Given the description of an element on the screen output the (x, y) to click on. 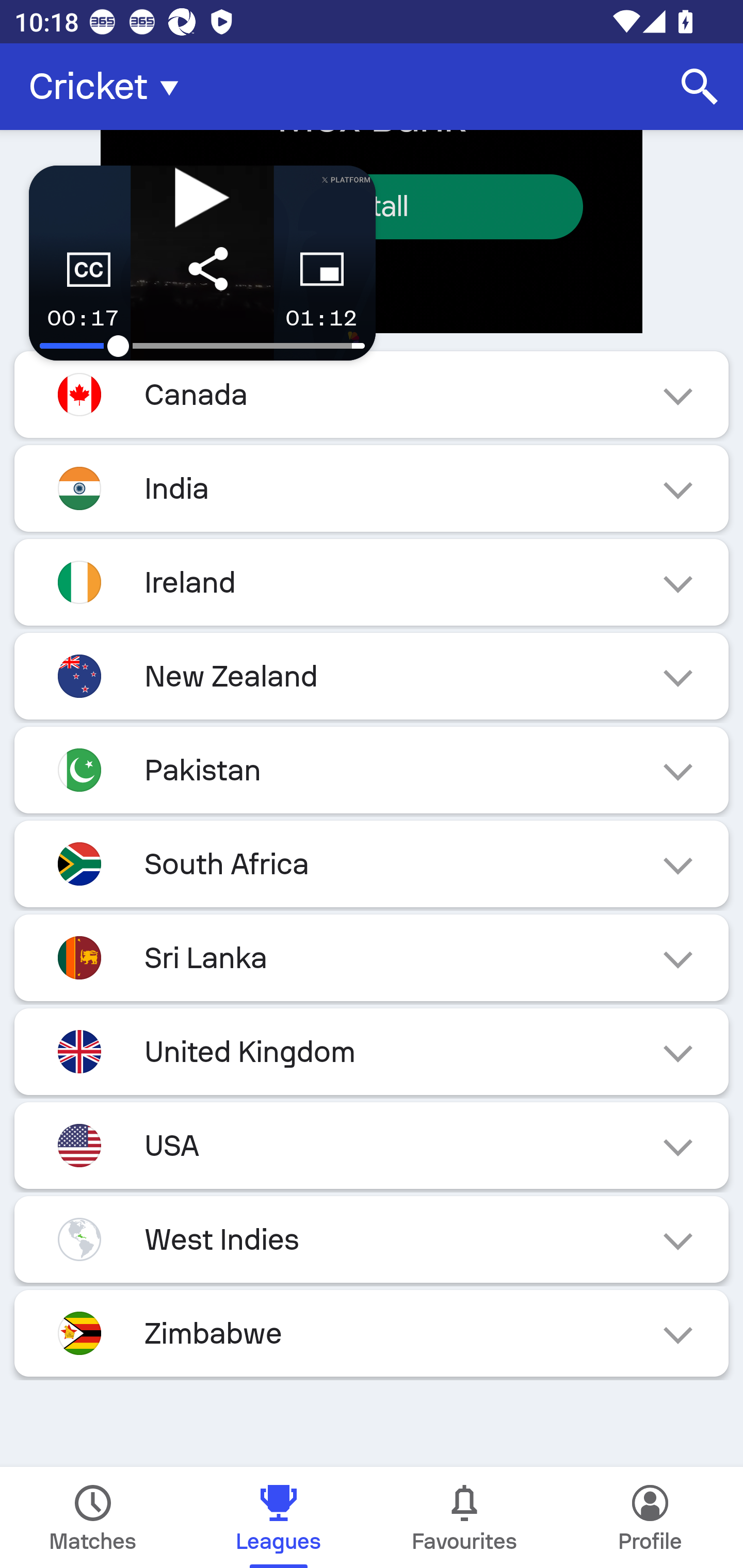
Cricket (109, 86)
Search (699, 86)
Canada (371, 394)
India (371, 488)
Ireland (371, 582)
New Zealand (371, 676)
Pakistan (371, 769)
South Africa (371, 863)
Sri Lanka (371, 957)
United Kingdom (371, 1051)
USA (371, 1145)
West Indies (371, 1239)
Zimbabwe (371, 1333)
Matches (92, 1517)
Favourites (464, 1517)
Profile (650, 1517)
